Given the description of an element on the screen output the (x, y) to click on. 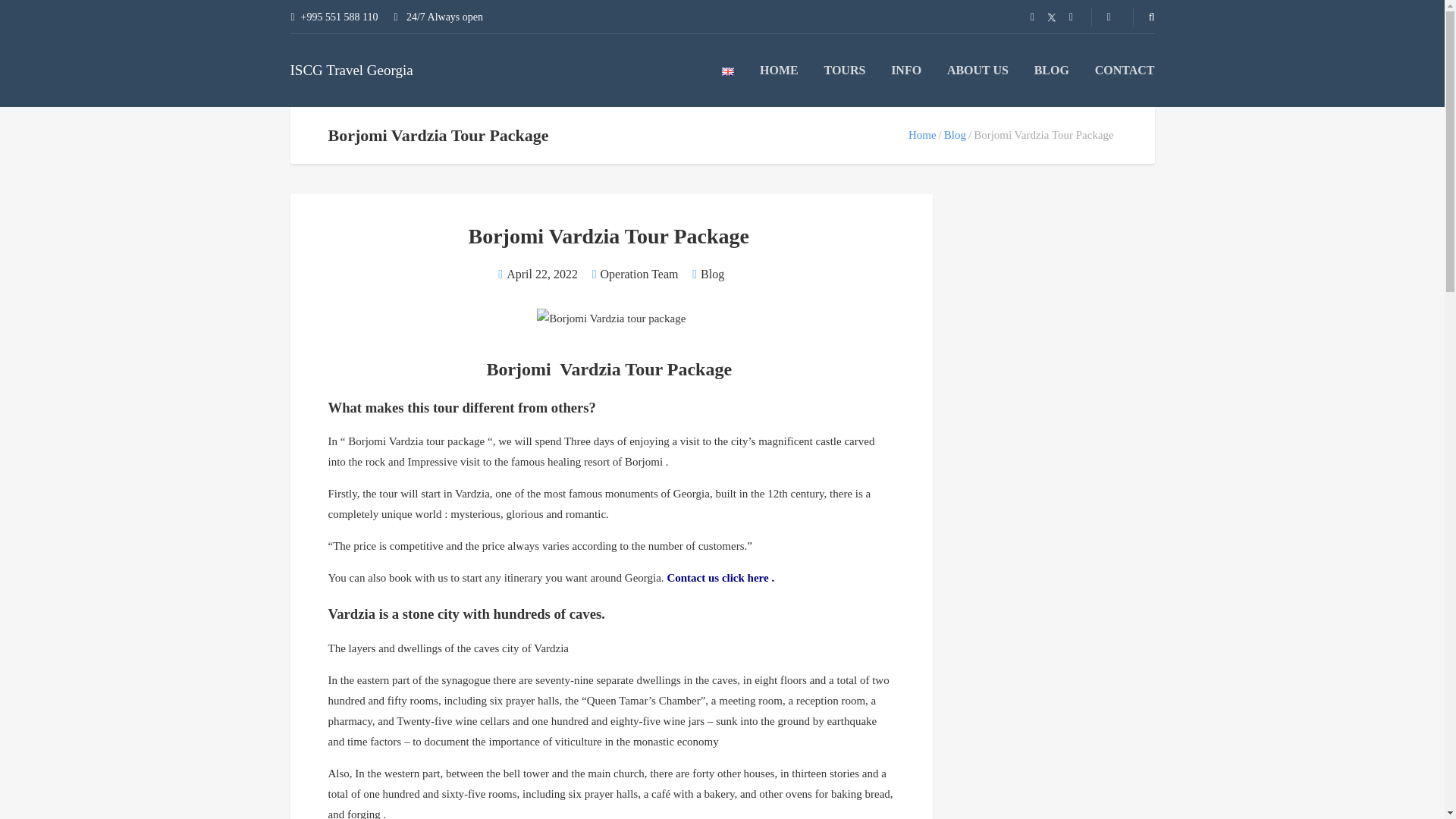
ISCG Travel Georgia (350, 70)
CONTACT (1124, 69)
Home (922, 134)
HOME (778, 69)
BLOG (1050, 69)
TOURS (845, 69)
INFO (906, 69)
ABOUT US (978, 69)
